Given the description of an element on the screen output the (x, y) to click on. 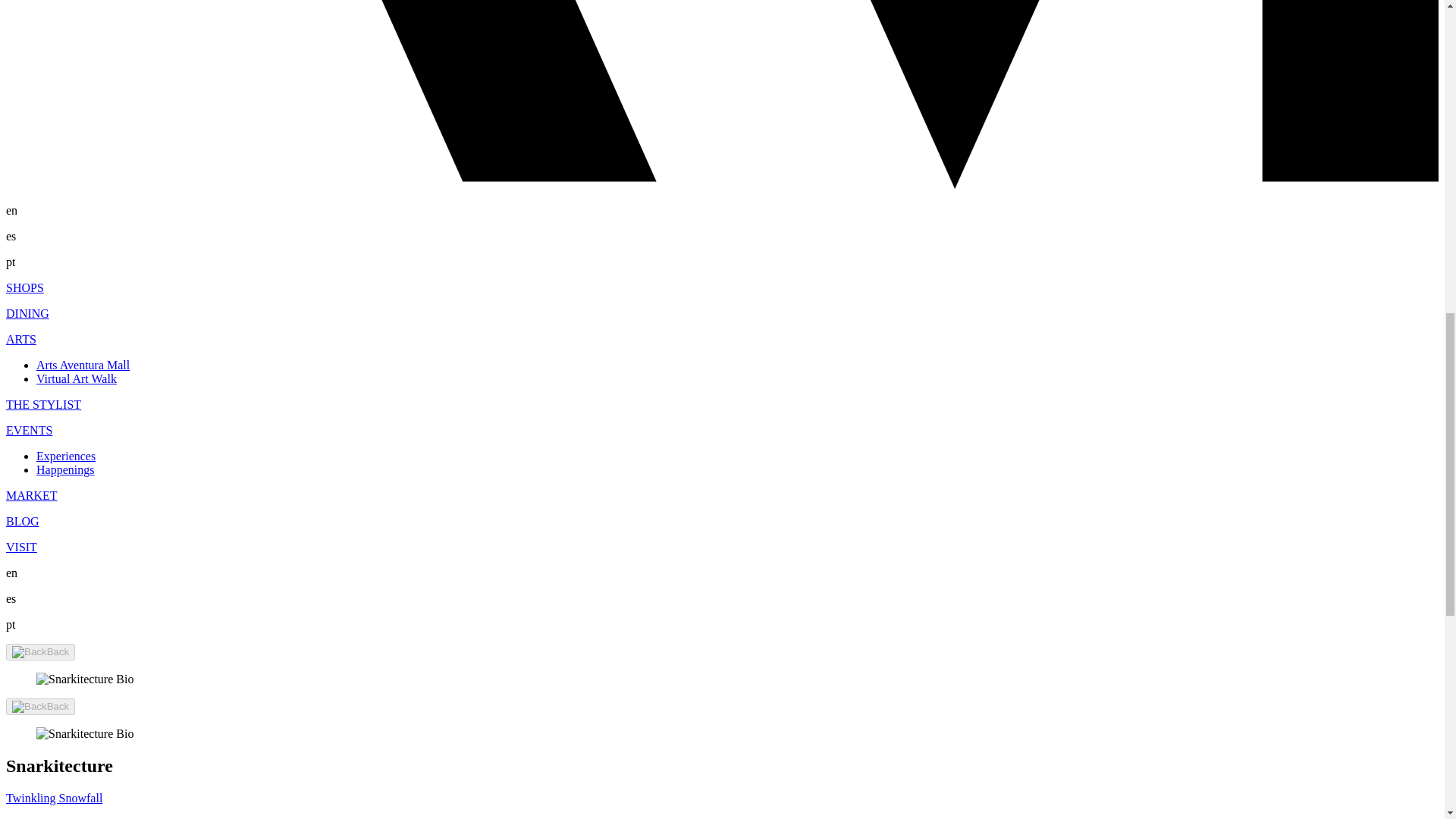
SHOPS (24, 287)
Back (40, 651)
Virtual Art Walk (76, 378)
Arts Aventura Mall (82, 364)
VISIT (21, 546)
Twinkling Snowfall (53, 797)
Experiences (66, 455)
DINING (27, 313)
EVENTS (28, 430)
ARTS (20, 338)
